Given the description of an element on the screen output the (x, y) to click on. 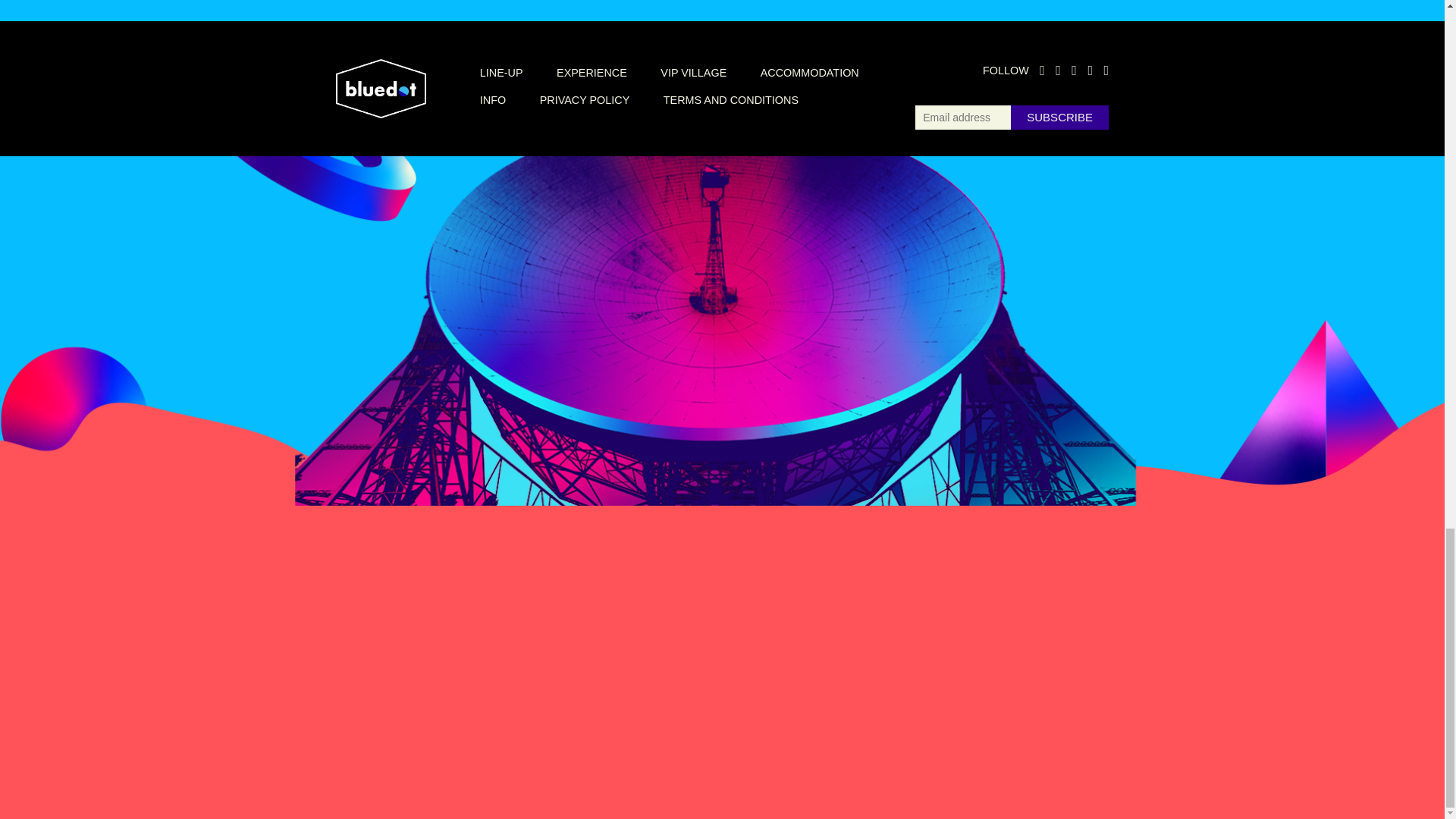
LINE-UP (501, 72)
PRIVACY POLICY (585, 100)
VIP VILLAGE (693, 72)
INFO (492, 100)
TERMS AND CONDITIONS (730, 100)
SUBSCRIBE (1059, 117)
EXPERIENCE (591, 72)
ACCOMMODATION (809, 72)
